Given the description of an element on the screen output the (x, y) to click on. 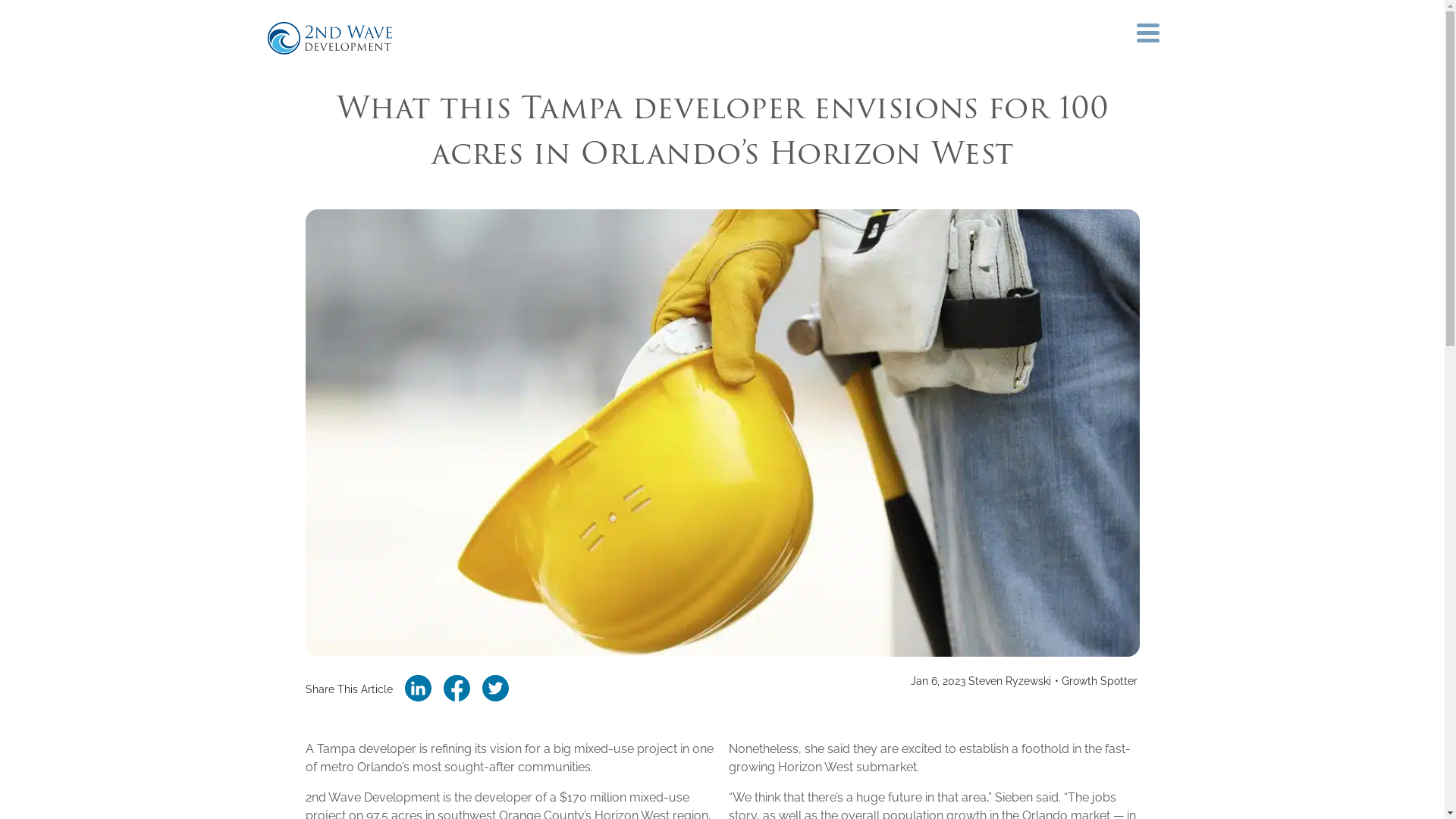
Menu Element type: text (1146, 32)
Growth Spotter Element type: text (1099, 680)
